Given the description of an element on the screen output the (x, y) to click on. 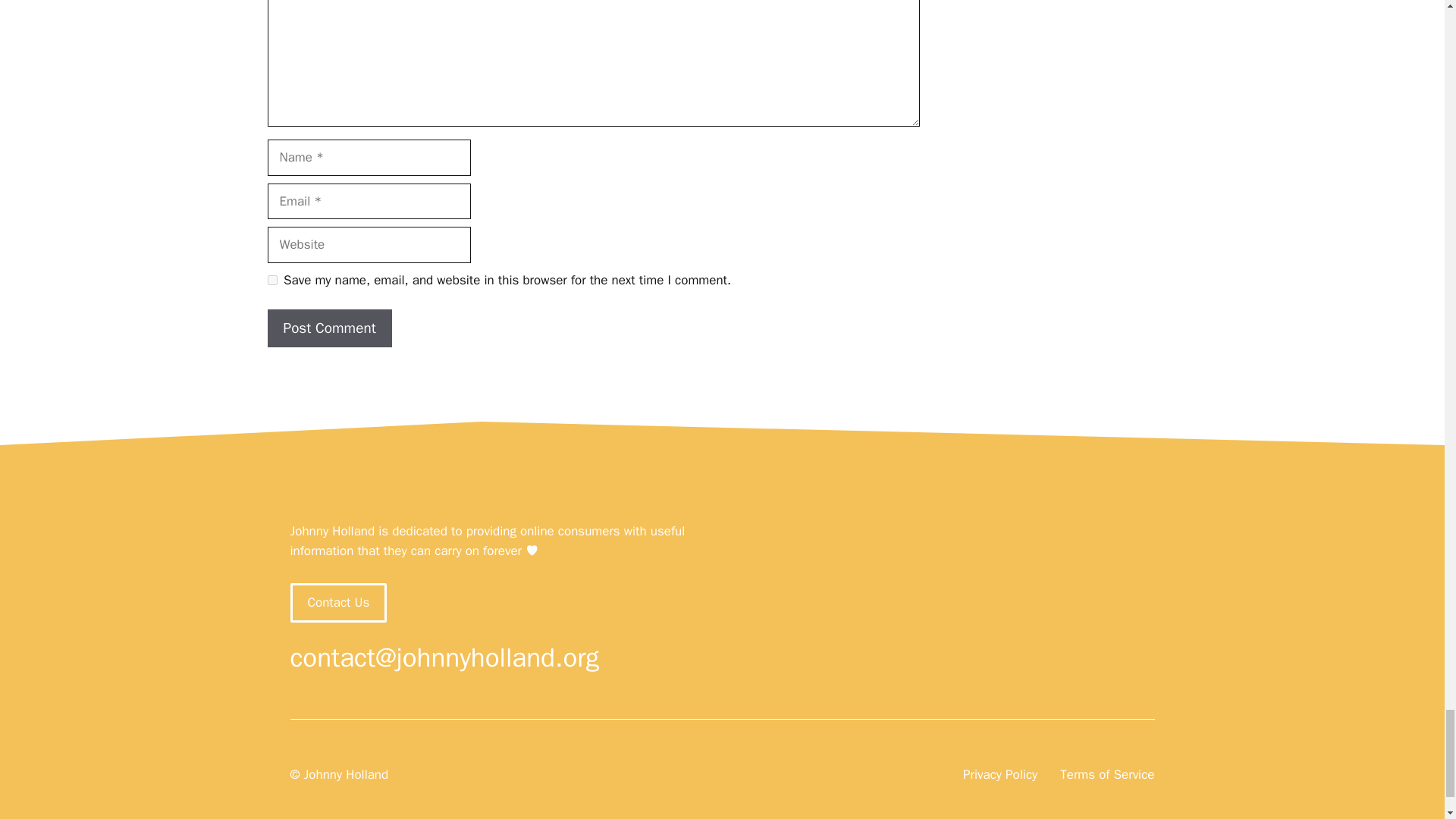
Privacy Policy (999, 774)
Post Comment (328, 328)
yes (271, 280)
Post Comment (328, 328)
Contact Us (338, 602)
Terms of Service (1106, 774)
